Given the description of an element on the screen output the (x, y) to click on. 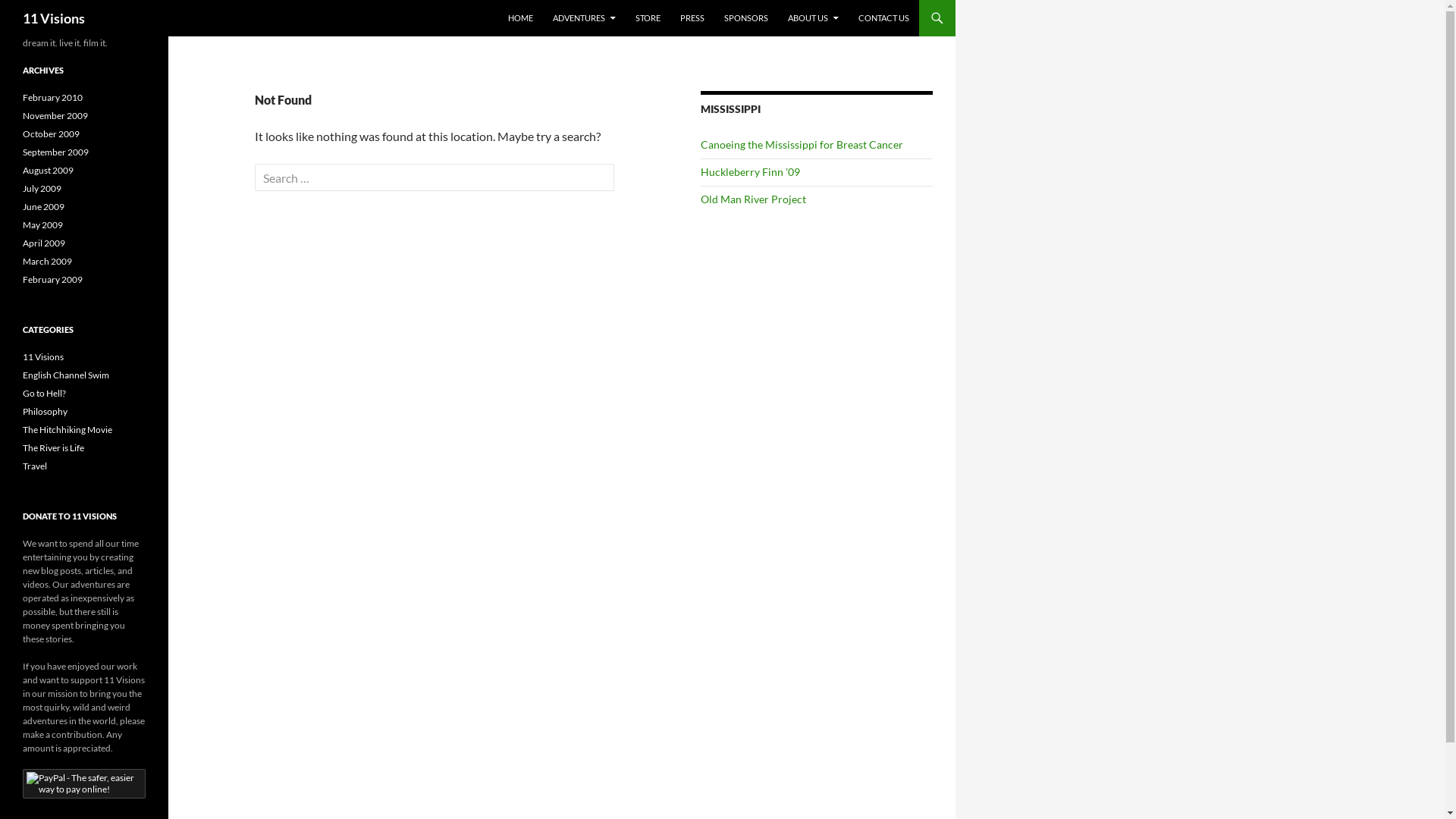
Old Man River Project Element type: text (753, 198)
July 2009 Element type: text (41, 188)
English Channel Swim Element type: text (65, 374)
STORE Element type: text (647, 18)
HOME Element type: text (520, 18)
The River is Life Element type: text (53, 447)
CONTACT US Element type: text (883, 18)
SPONSORS Element type: text (746, 18)
May 2009 Element type: text (42, 224)
Canoeing the Mississippi for Breast Cancer Element type: text (801, 144)
February 2009 Element type: text (52, 279)
11 Visions Element type: text (42, 356)
August 2009 Element type: text (47, 169)
11 Visions Element type: text (53, 18)
ABOUT US Element type: text (812, 18)
November 2009 Element type: text (54, 115)
Search Element type: text (40, 13)
March 2009 Element type: text (47, 260)
October 2009 Element type: text (50, 133)
The Hitchhiking Movie Element type: text (67, 429)
PRESS Element type: text (692, 18)
February 2010 Element type: text (52, 97)
Go to Hell? Element type: text (43, 392)
September 2009 Element type: text (55, 151)
Travel Element type: text (34, 465)
April 2009 Element type: text (43, 242)
ADVENTURES Element type: text (583, 18)
Philosophy Element type: text (44, 411)
June 2009 Element type: text (43, 206)
